Given the description of an element on the screen output the (x, y) to click on. 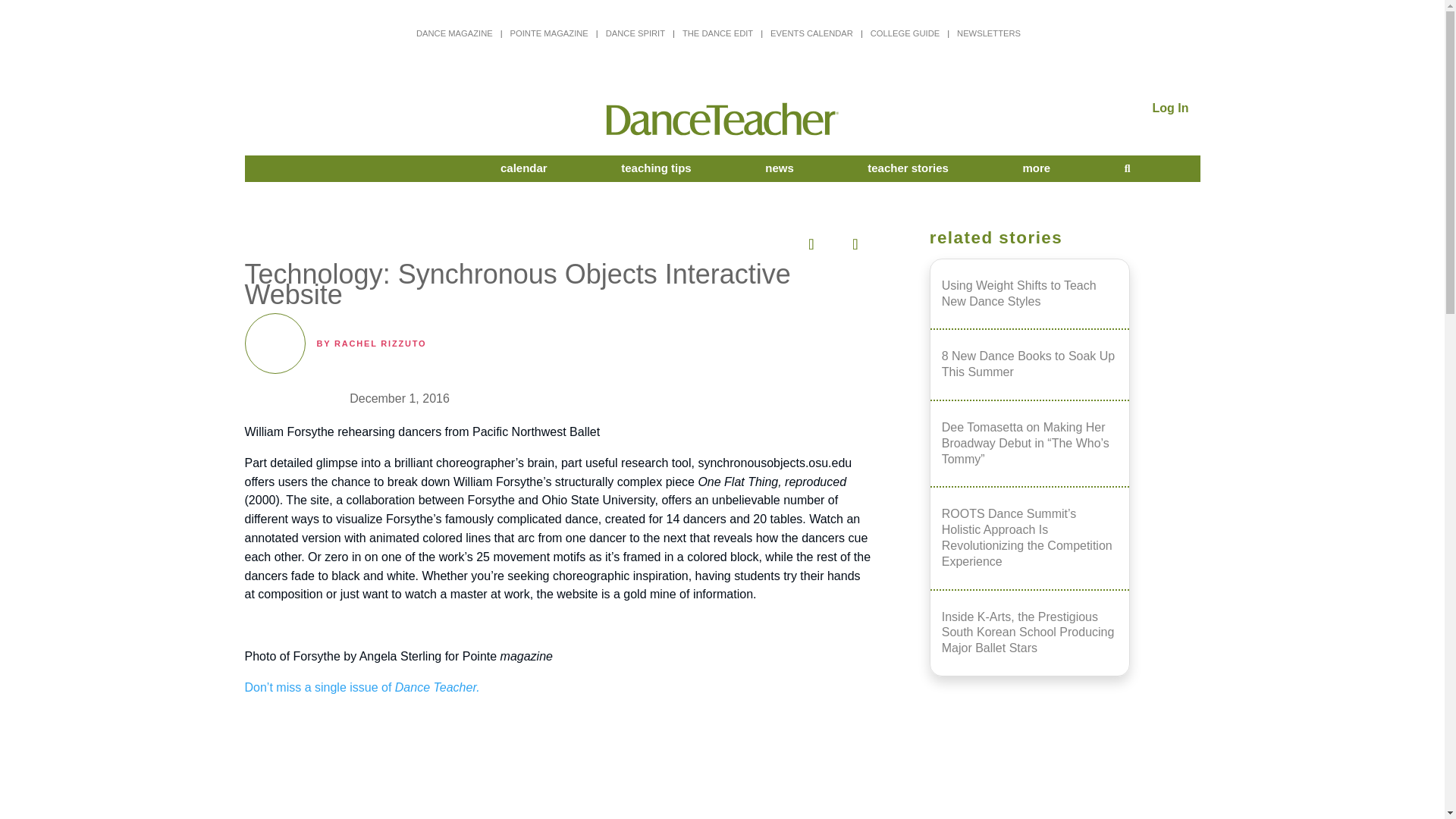
Follow on Twitter (676, 240)
Follow on Facebook (633, 240)
teacher stories (908, 168)
teaching tips (656, 168)
Members Login (1171, 107)
Follow on Pinterest (720, 240)
THE DANCE EDIT (717, 32)
Follow on LinkedIn (764, 240)
DANCE SPIRIT (635, 32)
more (1035, 168)
8 New Dance Books to Soak Up This Summer (1029, 363)
Follow on  (809, 240)
NEWSLETTERS (988, 32)
Members (369, 168)
